Given the description of an element on the screen output the (x, y) to click on. 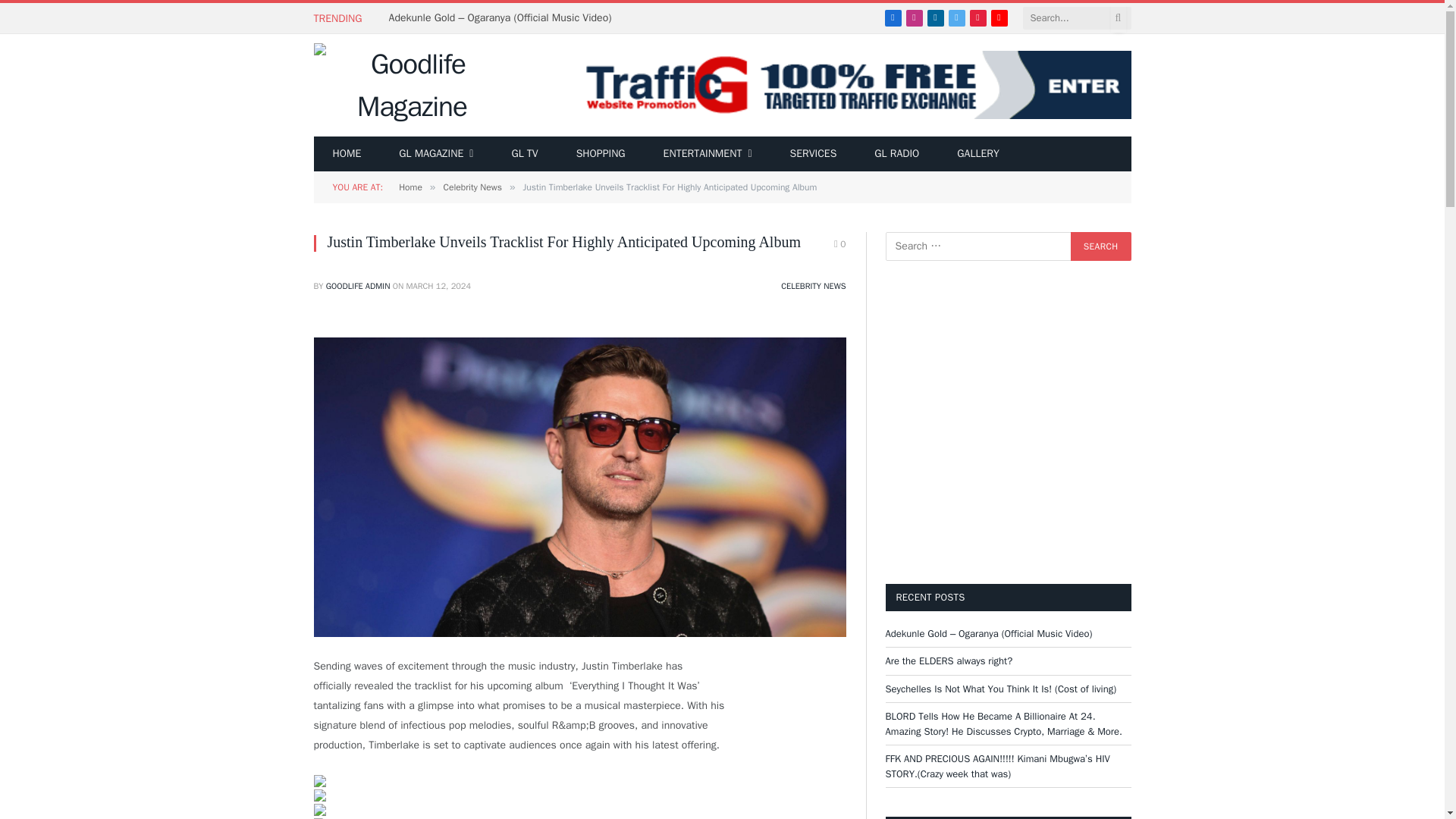
Facebook (892, 17)
Search (1100, 246)
GL MAGAZINE (436, 153)
YouTube (998, 17)
Search (1100, 246)
Instagram (913, 17)
Goodlife Magazine (412, 85)
LinkedIn (934, 17)
HOME (347, 153)
Pinterest (977, 17)
